Given the description of an element on the screen output the (x, y) to click on. 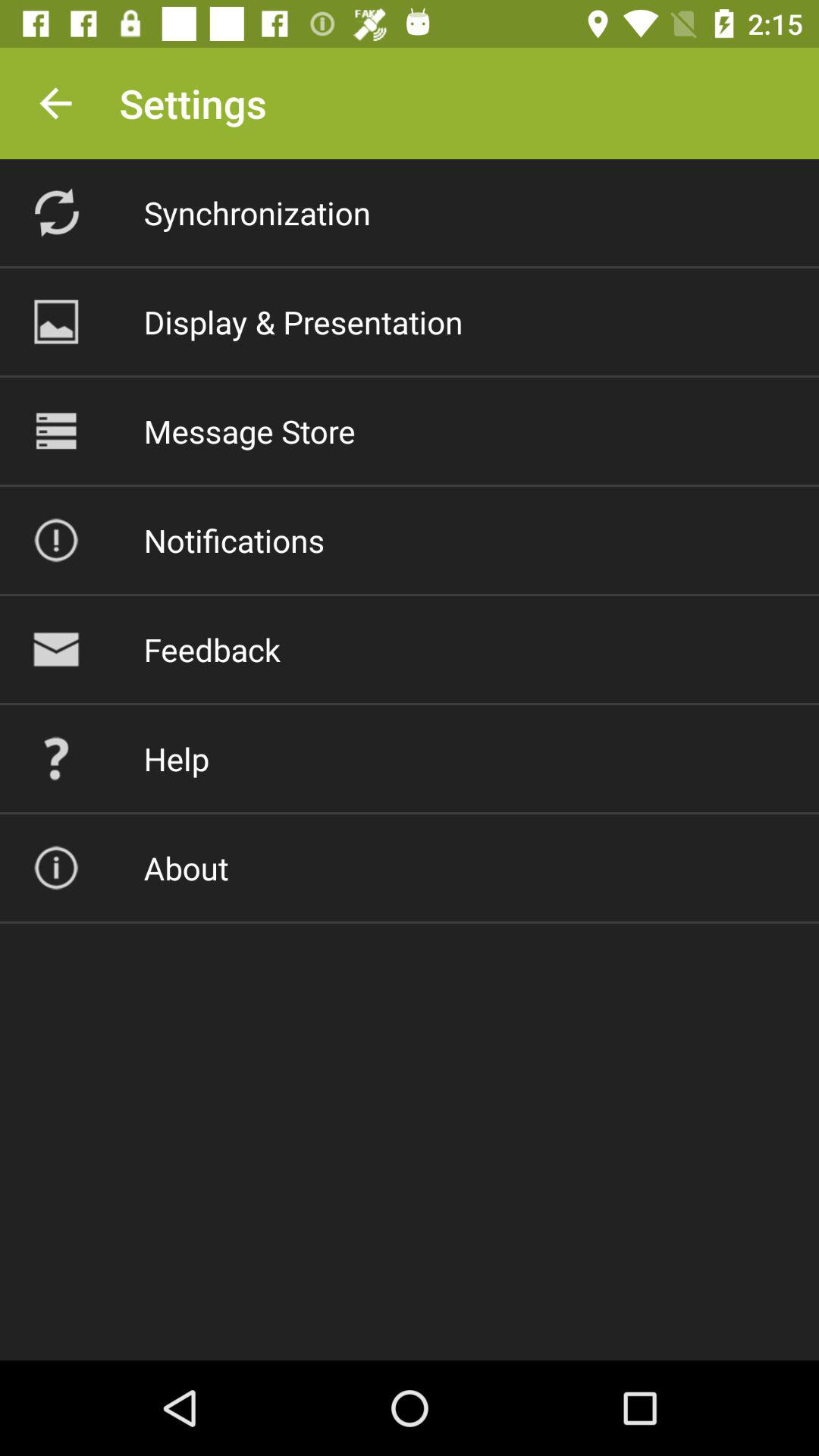
turn off item above the about item (176, 758)
